Given the description of an element on the screen output the (x, y) to click on. 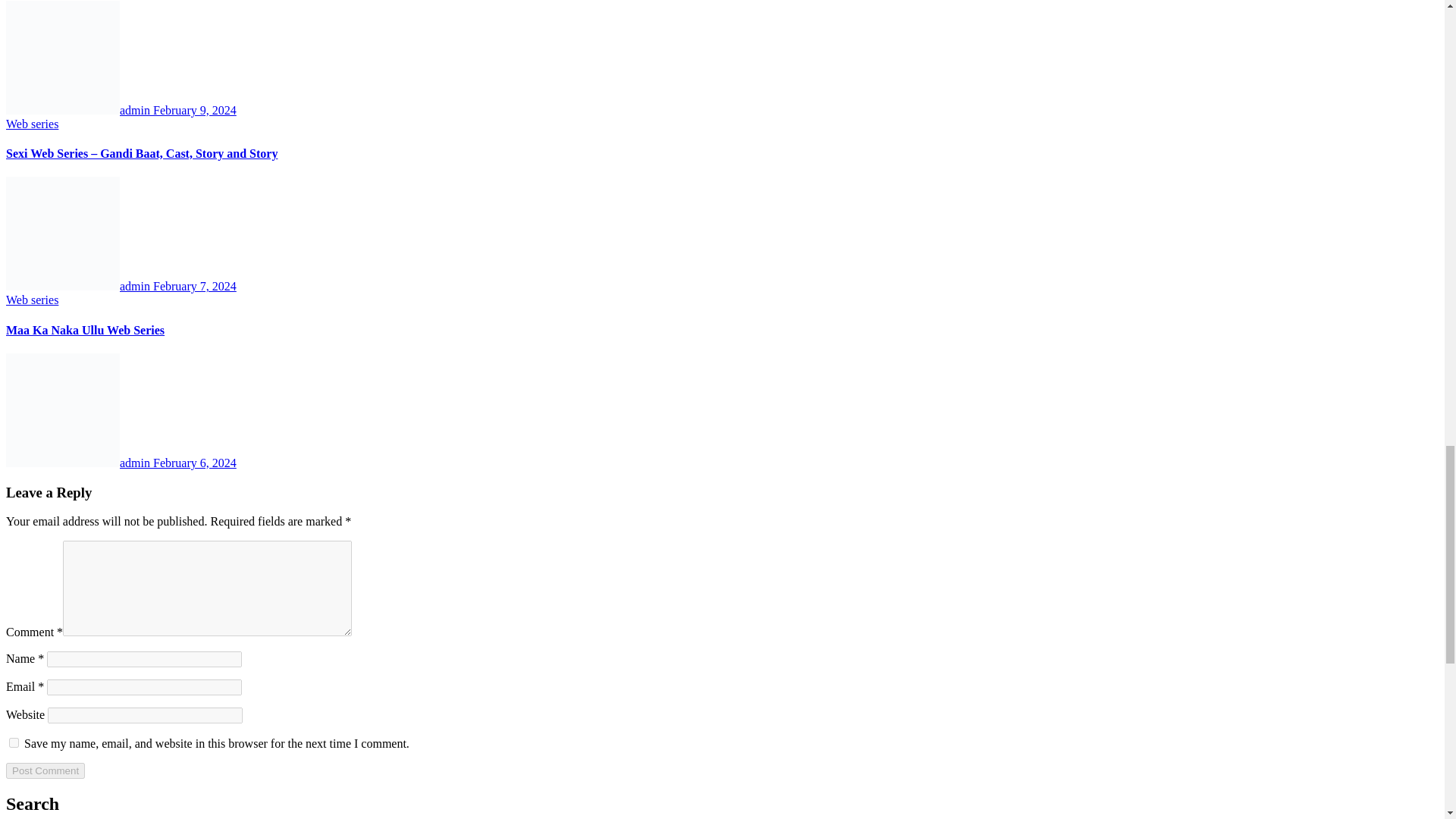
yes (13, 742)
Permalink to: Maa Ka Naka Ullu Web Series (84, 329)
Post Comment (44, 770)
